Given the description of an element on the screen output the (x, y) to click on. 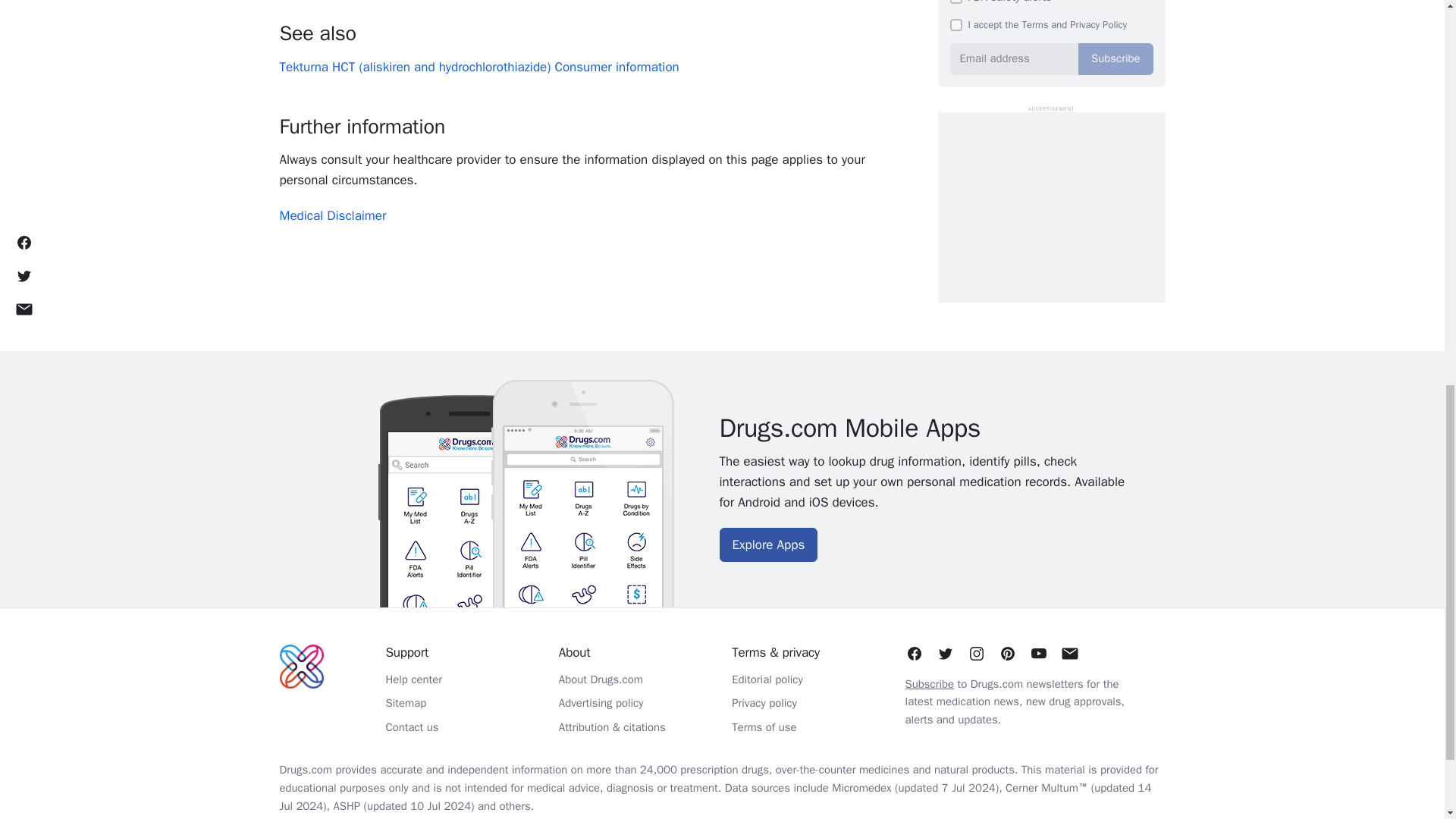
3rd party ad content (1050, 207)
